Given the description of an element on the screen output the (x, y) to click on. 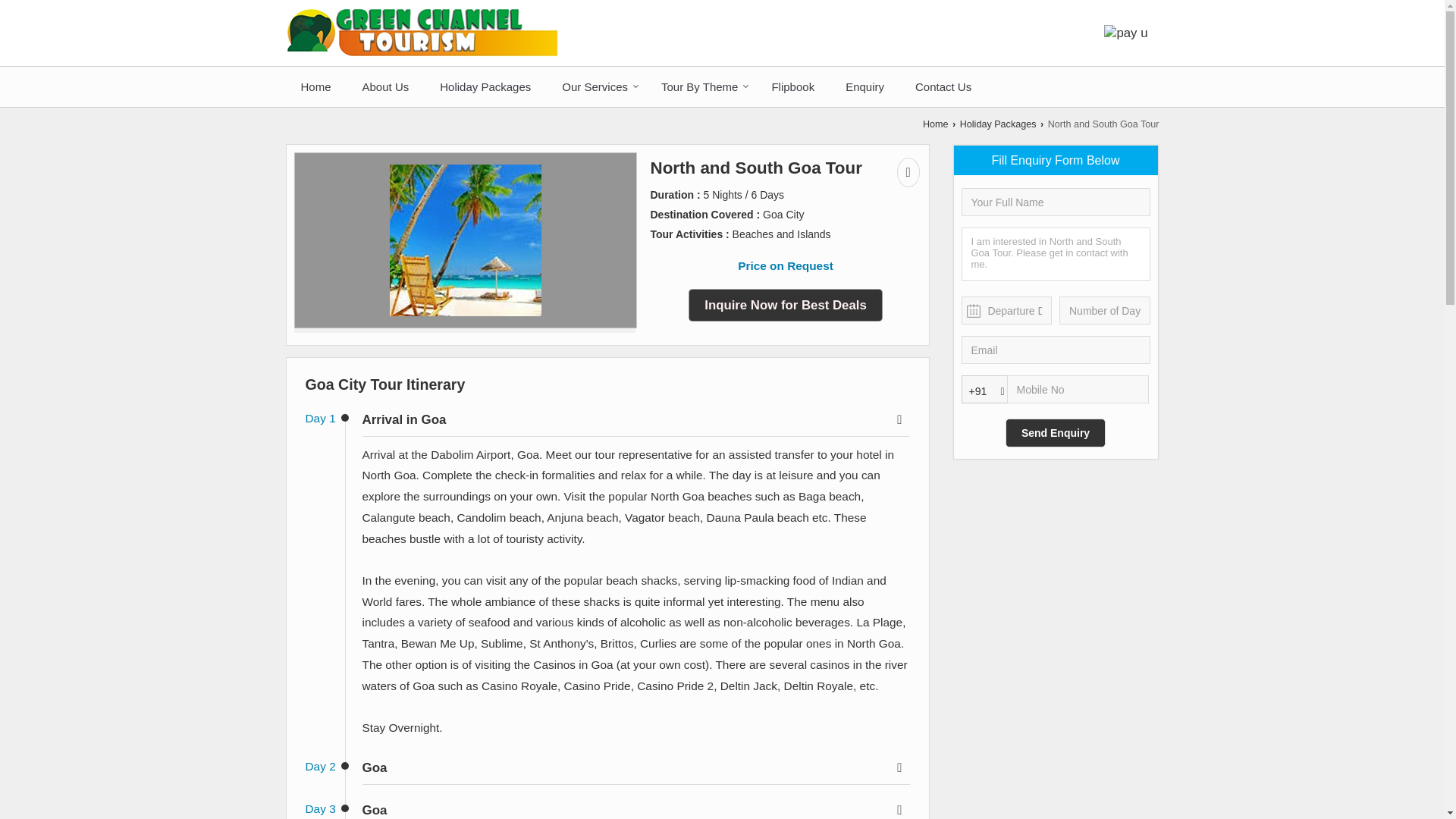
Tour By Theme (700, 86)
About Us (386, 86)
Contact Us (943, 86)
Contact Us (943, 86)
pay u (1125, 32)
Home (315, 86)
Our Services (596, 86)
Goa (636, 809)
Flipbook (792, 86)
Holiday Packages (997, 123)
Goa (636, 767)
Inquire Now for Best Deals (785, 305)
Arrival in Goa (636, 419)
Home (936, 123)
About Us (386, 86)
